Given the description of an element on the screen output the (x, y) to click on. 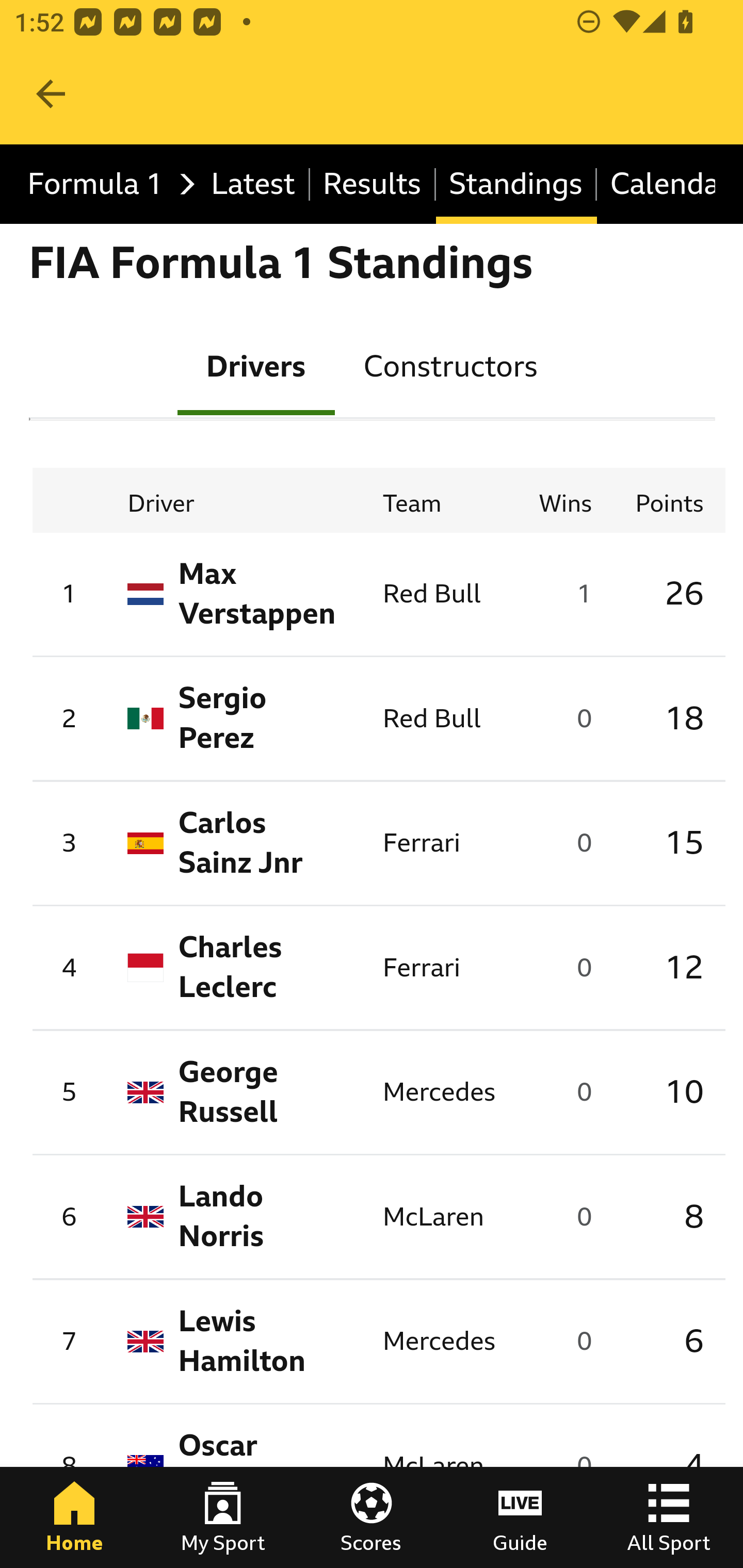
Navigate up (50, 93)
Formula 1 (106, 184)
Latest (253, 184)
Results (372, 184)
Standings (515, 184)
Calendar (655, 184)
Drivers (255, 365)
Constructors (449, 365)
My Sport (222, 1517)
Scores (371, 1517)
Guide (519, 1517)
All Sport (668, 1517)
